Given the description of an element on the screen output the (x, y) to click on. 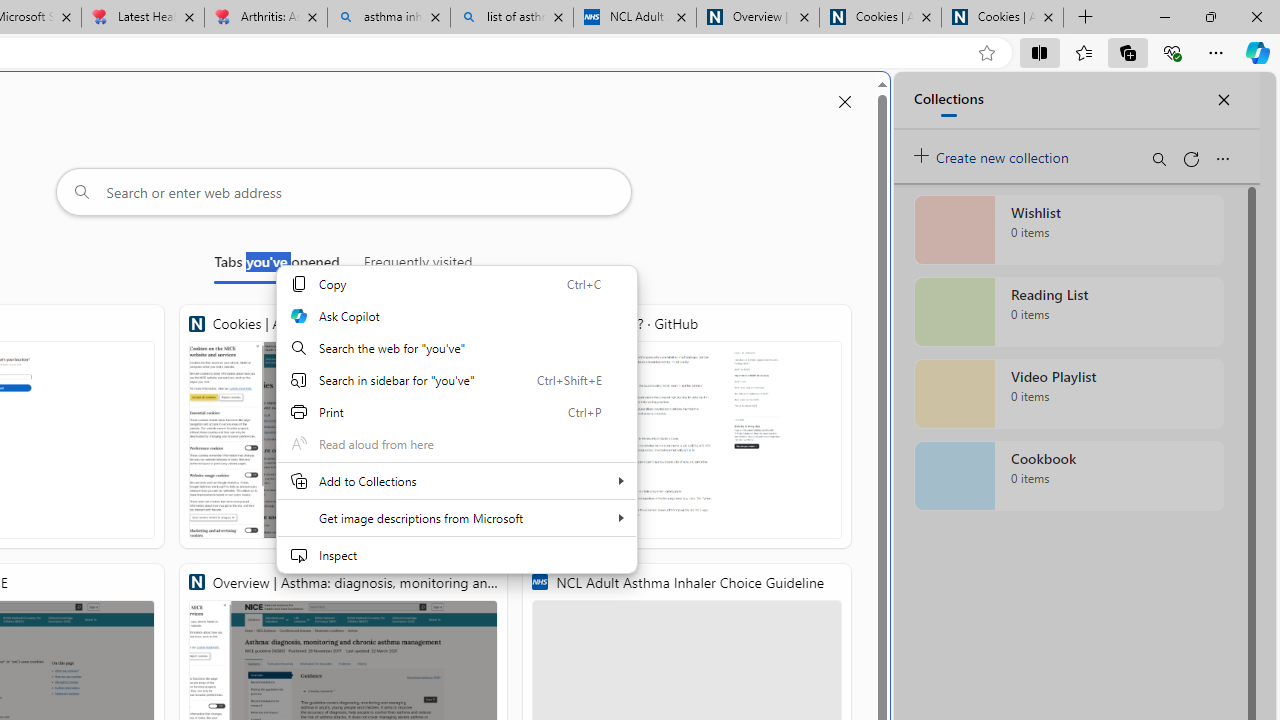
Ask Copilot (456, 315)
Tabs you've opened (276, 265)
